Given the description of an element on the screen output the (x, y) to click on. 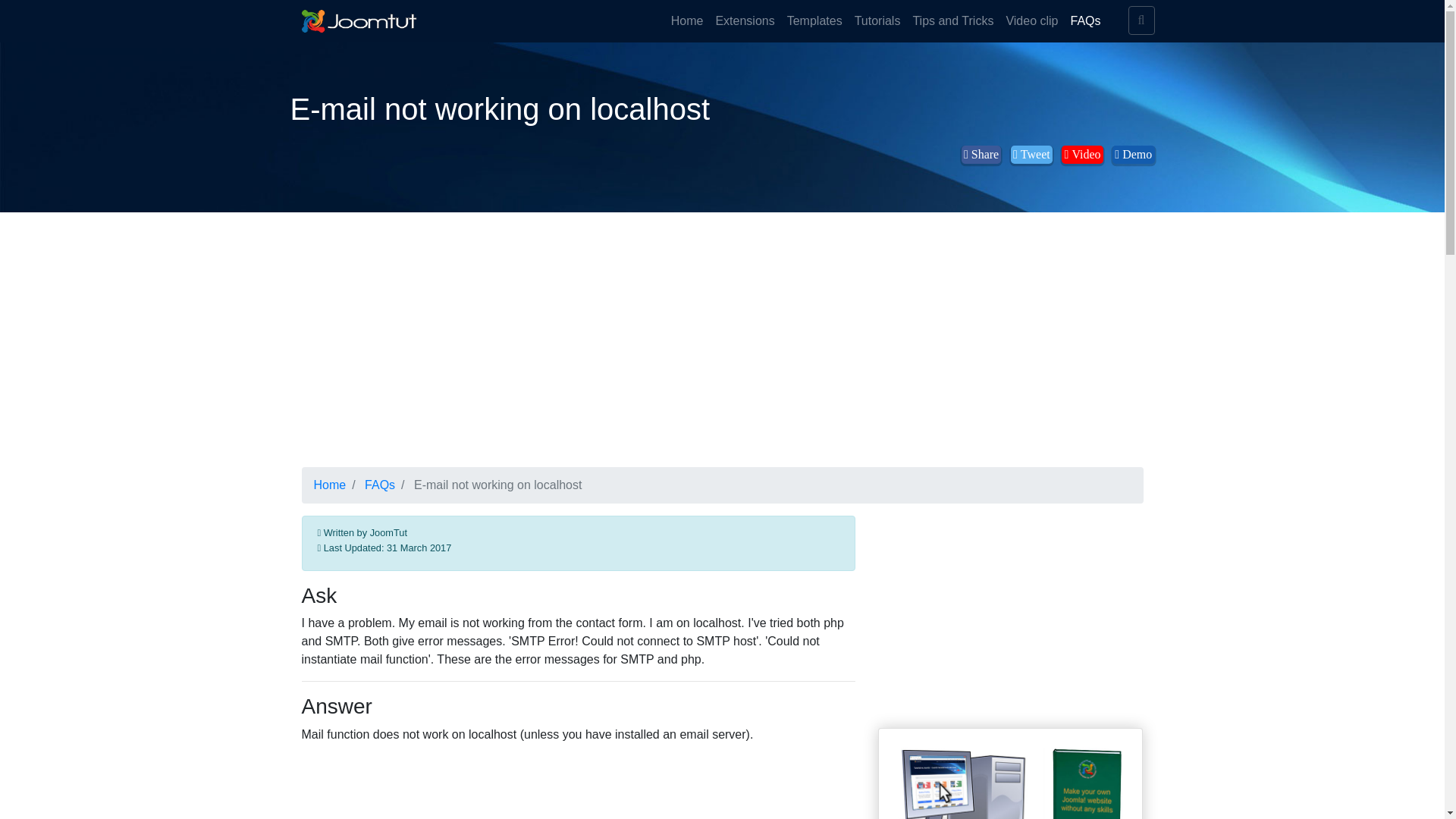
FAQs (1085, 20)
Share this page on Facebook (980, 154)
Templates (814, 20)
Tips and Tricks (951, 20)
Demo (1133, 154)
Joomla! Tutorials and Extensions (359, 20)
Home (330, 484)
Tutorials (877, 20)
Share this page on Twitter (1031, 154)
Video (1081, 154)
